Given the description of an element on the screen output the (x, y) to click on. 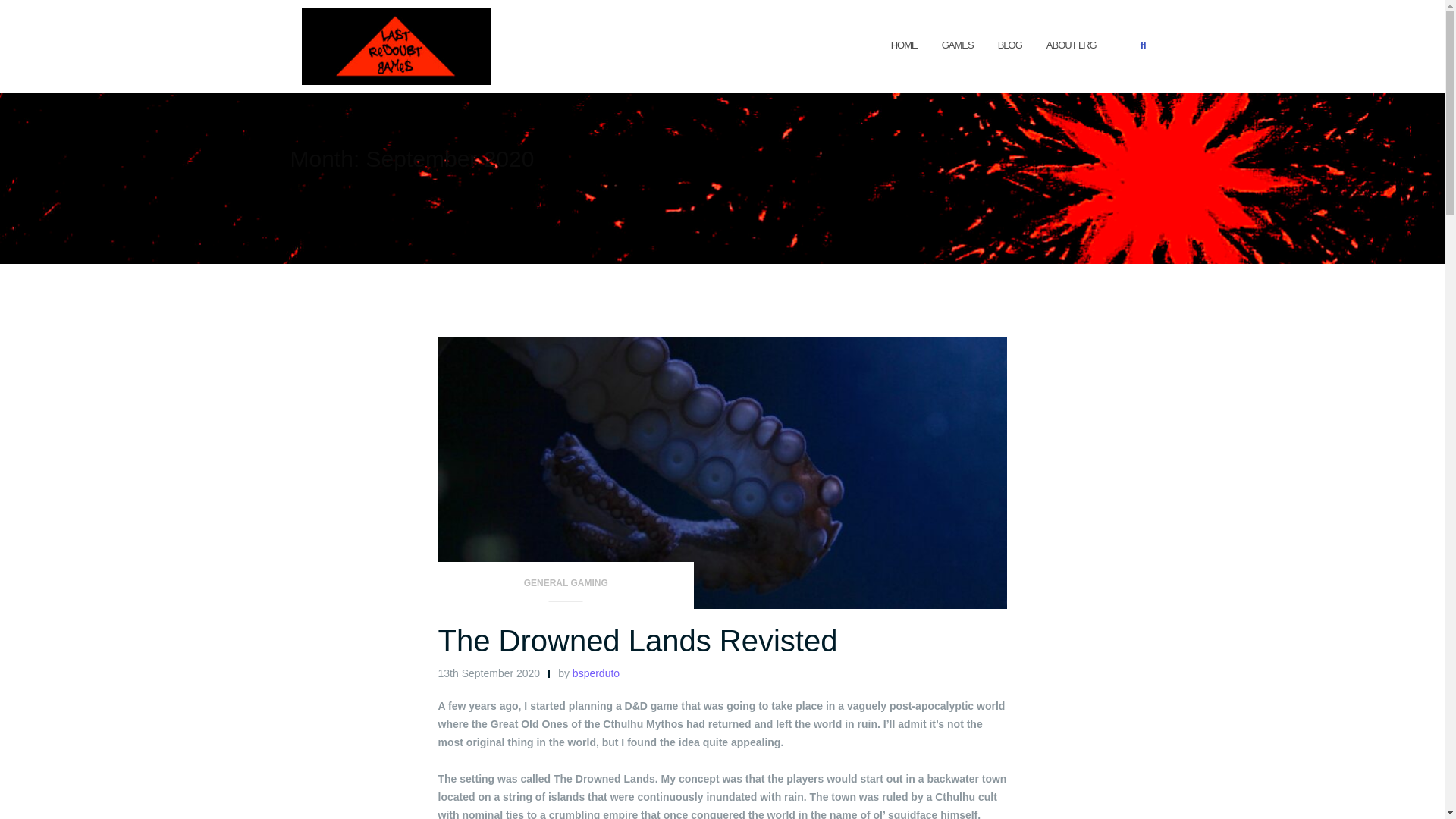
bsperduto (596, 673)
The Drowned Lands Revisted (638, 640)
bsperduto (596, 673)
About LRG (1071, 45)
GENERAL GAMING (566, 587)
ABOUT LRG (1071, 45)
